Given the description of an element on the screen output the (x, y) to click on. 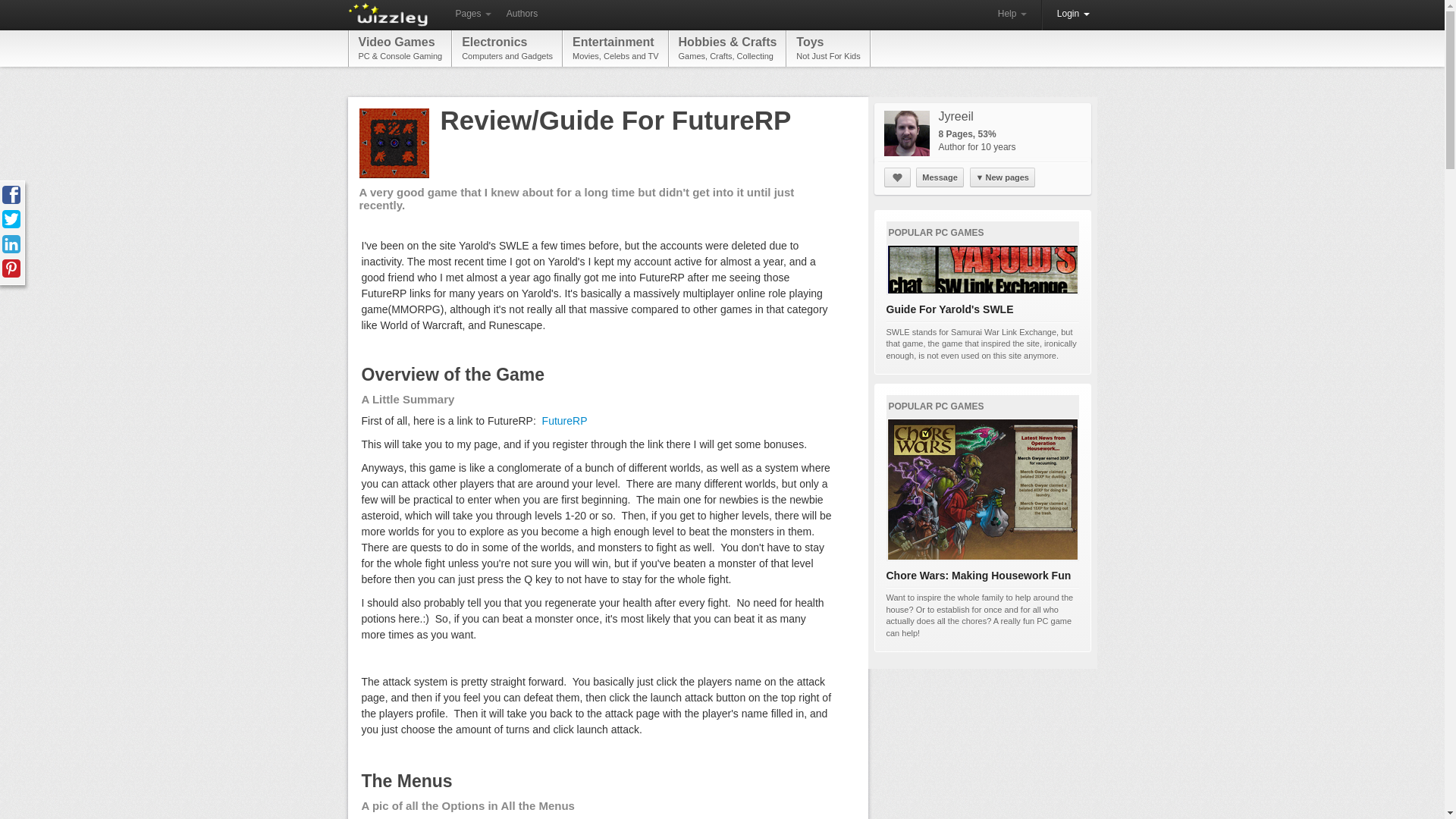
Authors (506, 48)
Login (521, 14)
Pages (1073, 14)
Help (615, 48)
Follow (471, 14)
FutureRP (1011, 14)
